Given the description of an element on the screen output the (x, y) to click on. 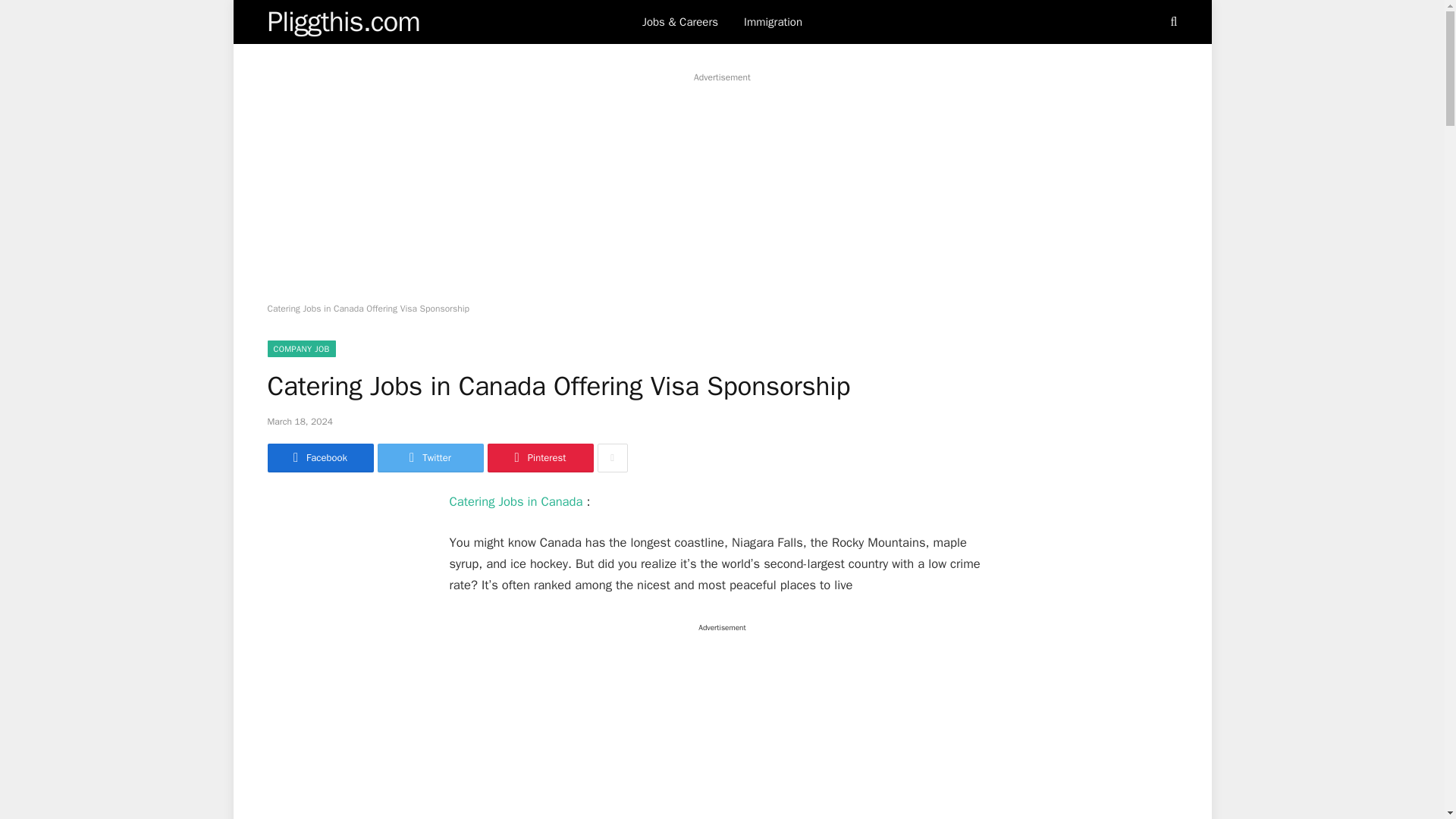
COMPANY JOB (300, 348)
Immigration (772, 22)
Facebook (319, 457)
Show More Social Sharing (611, 457)
Pliggthis.com (342, 21)
Pliggthis.com (342, 21)
Share on Facebook (319, 457)
Pinterest (539, 457)
Share on Pinterest (539, 457)
Catering Jobs in Canada (515, 501)
Twitter (430, 457)
